Given the description of an element on the screen output the (x, y) to click on. 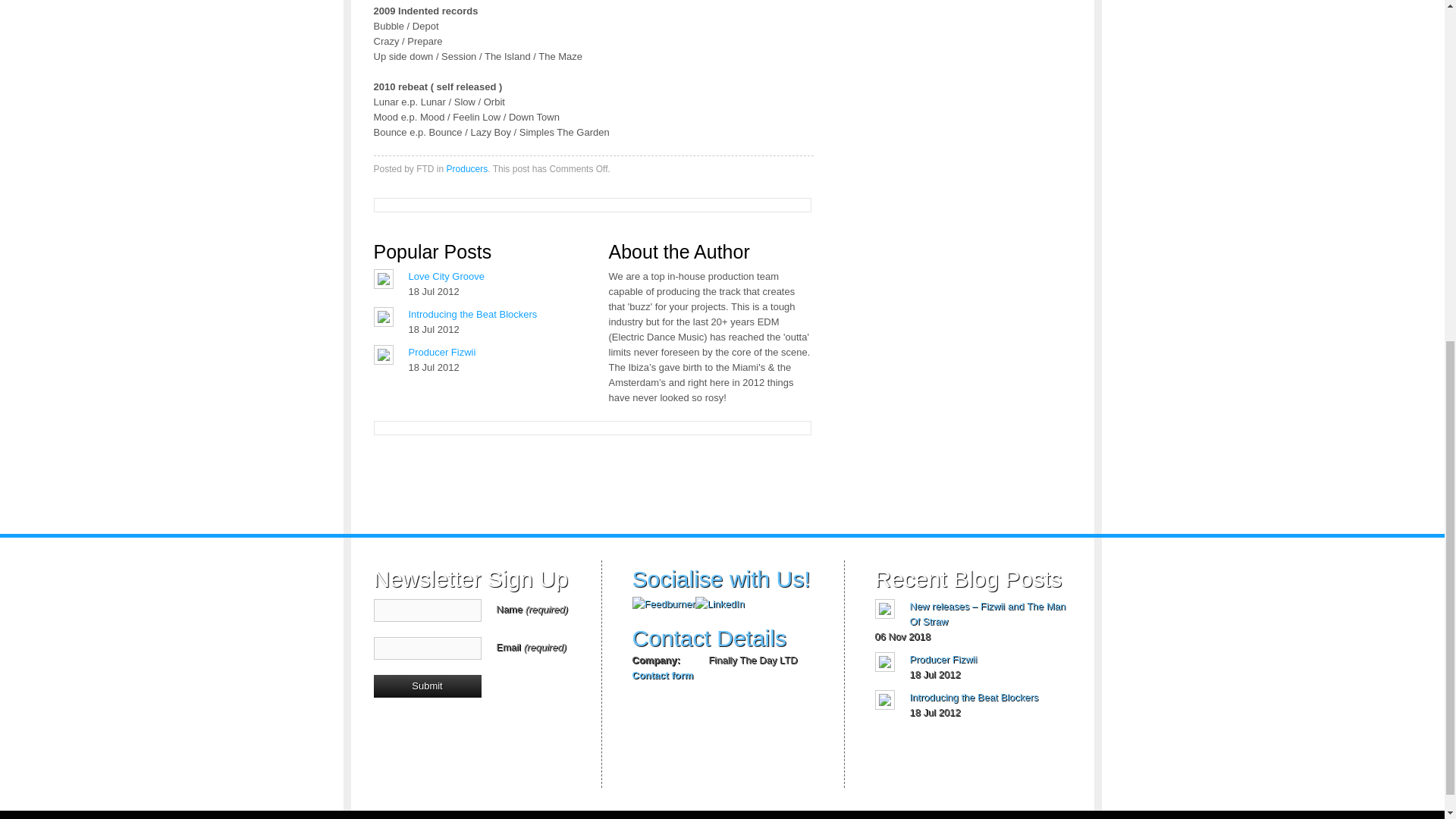
Producer Fizwii (943, 659)
Submit (426, 685)
Producer Fizwii (441, 351)
Introducing the Beat Blockers (472, 314)
Introducing the Beat Blockers (974, 696)
Love City Groove (445, 276)
Contact form (662, 674)
Producer Fizwii (943, 659)
Introducing the Beat Blockers (974, 696)
Producer Fizwii (441, 351)
Producers (466, 168)
Introducing the Beat Blockers (472, 314)
Love City Groove (445, 276)
